Given the description of an element on the screen output the (x, y) to click on. 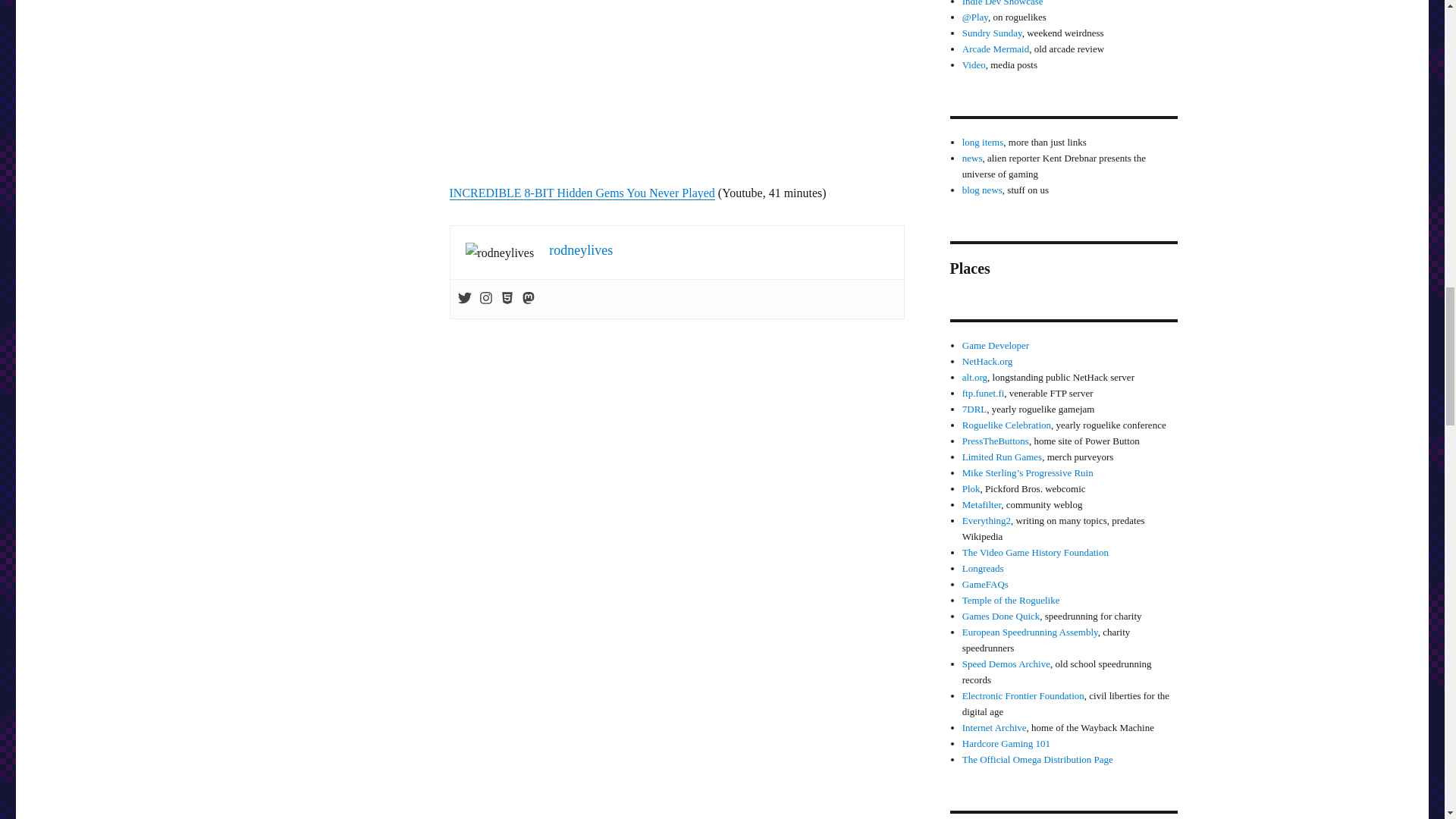
INCREDIBLE 8-BIT Hidden Gems You Never Played (581, 192)
INCREDIBLE 8-BIT Hidden Gems You Never Played! (676, 85)
rodneylives (580, 249)
